Given the description of an element on the screen output the (x, y) to click on. 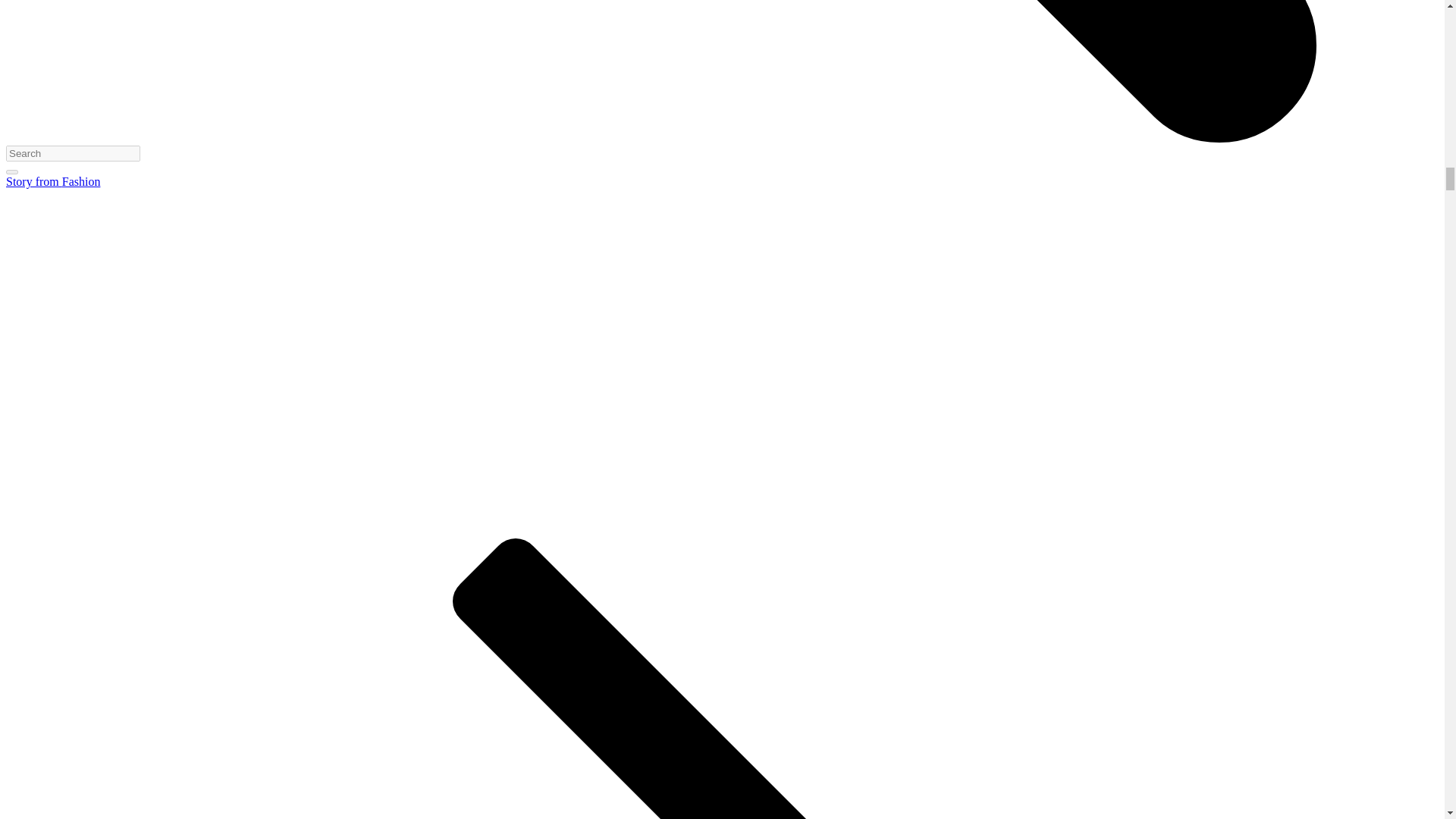
Close (11, 171)
